Given the description of an element on the screen output the (x, y) to click on. 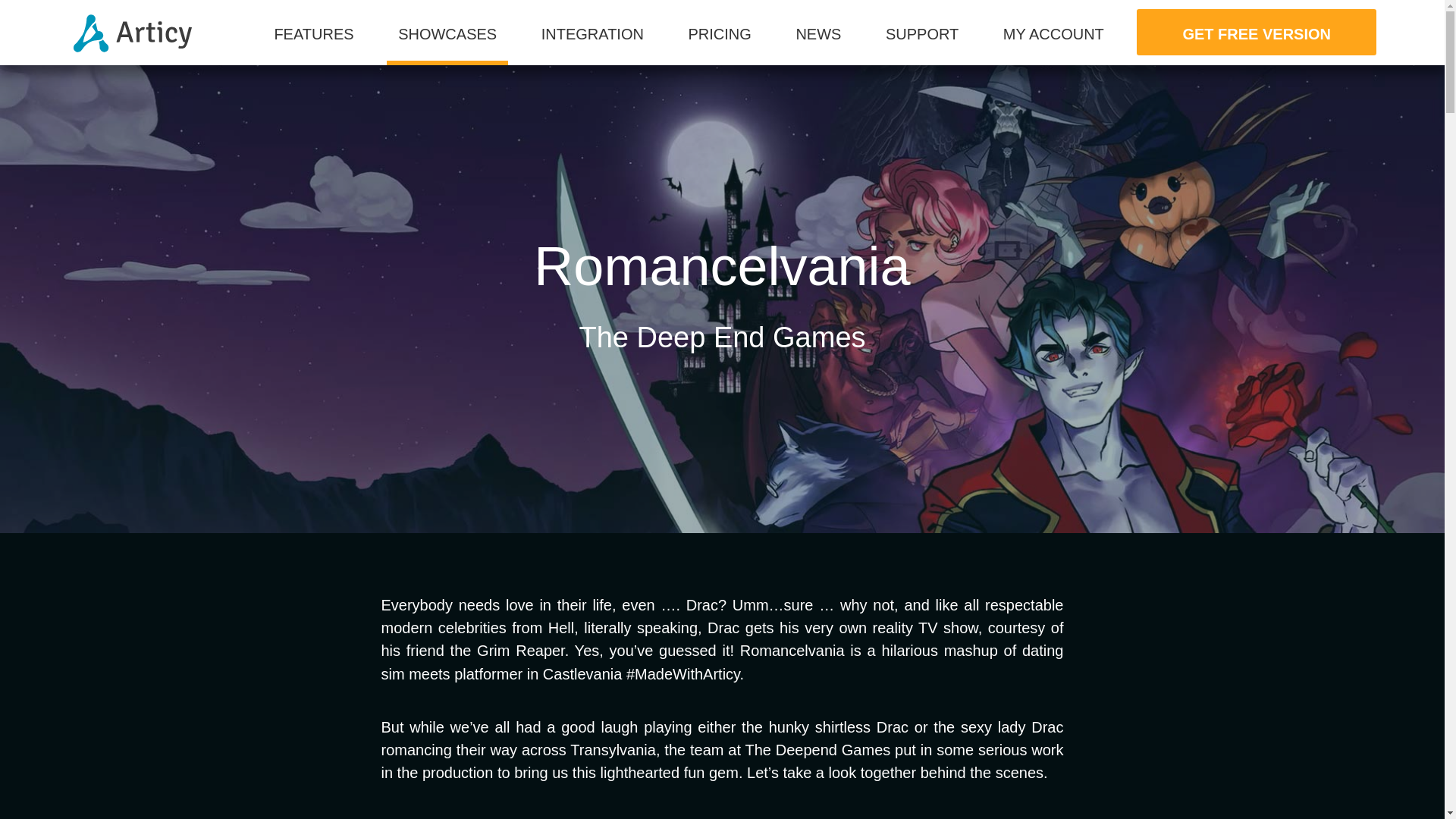
INTEGRATION (592, 42)
PRICING (719, 42)
FEATURES (313, 42)
Articy logo (132, 33)
MY ACCOUNT (1053, 42)
SUPPORT (922, 42)
GET FREE VERSION (1256, 32)
SHOWCASES (447, 45)
NEWS (817, 42)
